Given the description of an element on the screen output the (x, y) to click on. 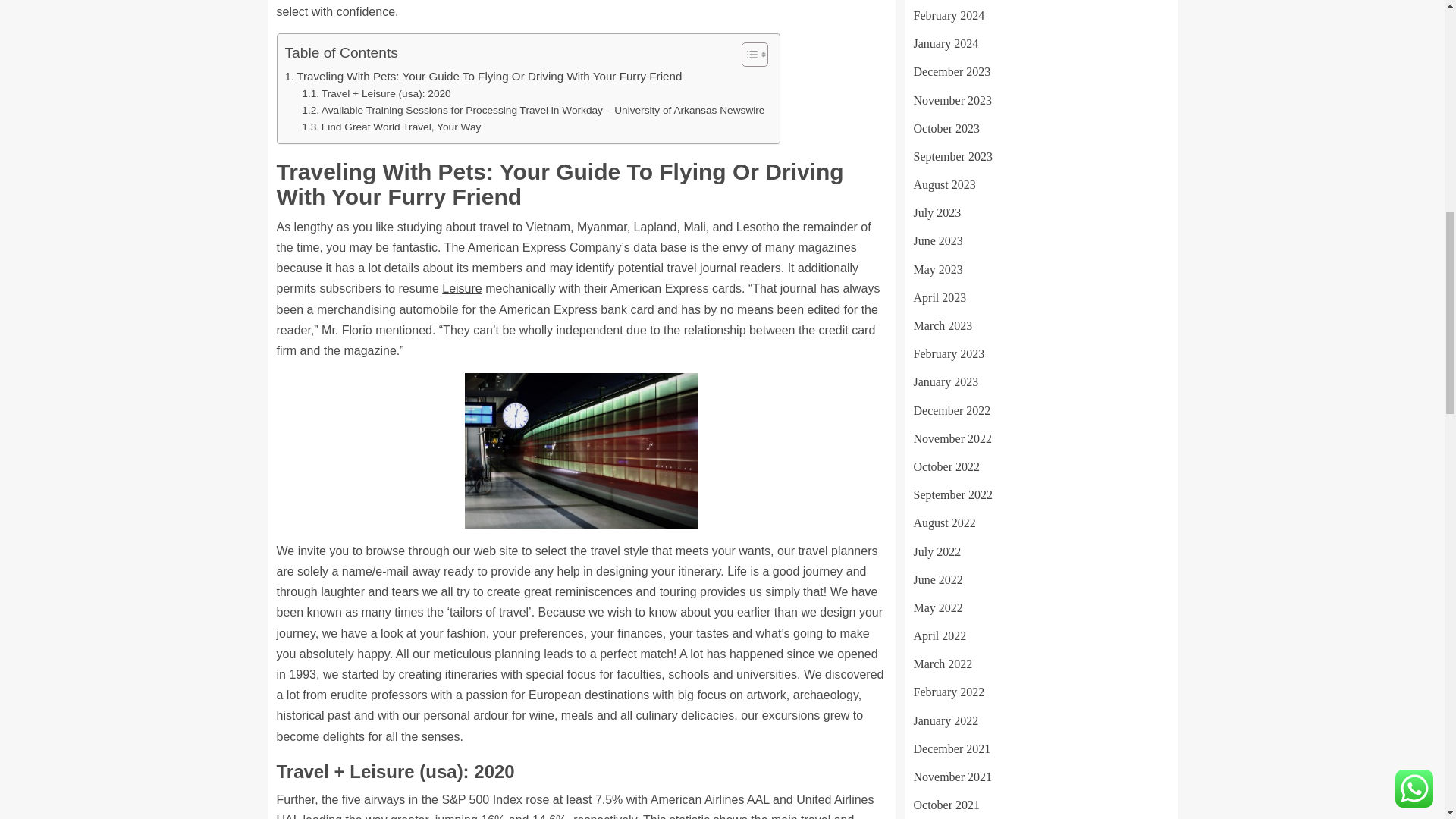
Leisure (461, 287)
Find Great World Travel, Your Way (390, 126)
Find Great World Travel, Your Way (390, 126)
